Given the description of an element on the screen output the (x, y) to click on. 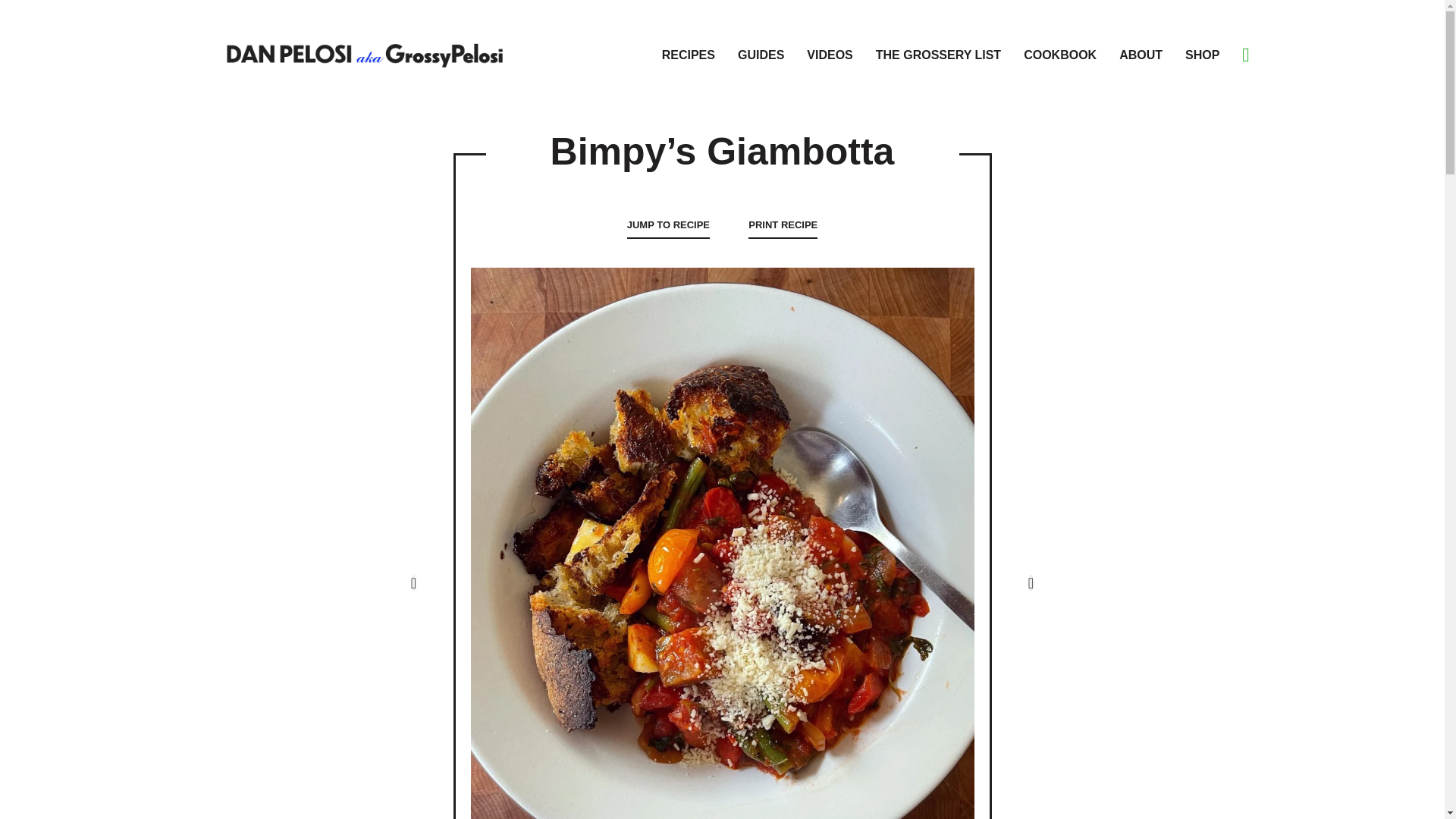
SHOP (1202, 49)
PRINT RECIPE (782, 225)
THE GROSSERY LIST (938, 49)
RECIPES (688, 49)
GUIDES (761, 49)
JUMP TO RECIPE (668, 225)
ABOUT (1140, 49)
logo (363, 53)
VIDEOS (828, 49)
JUMP TO RECIPE (668, 225)
COOKBOOK (1059, 49)
